Given the description of an element on the screen output the (x, y) to click on. 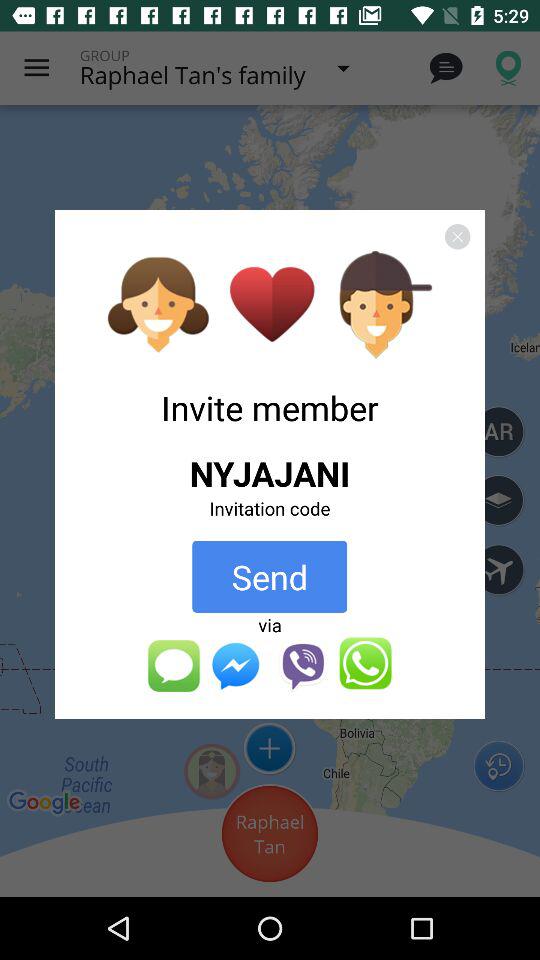
press icon below the invitation code app (269, 576)
